Given the description of an element on the screen output the (x, y) to click on. 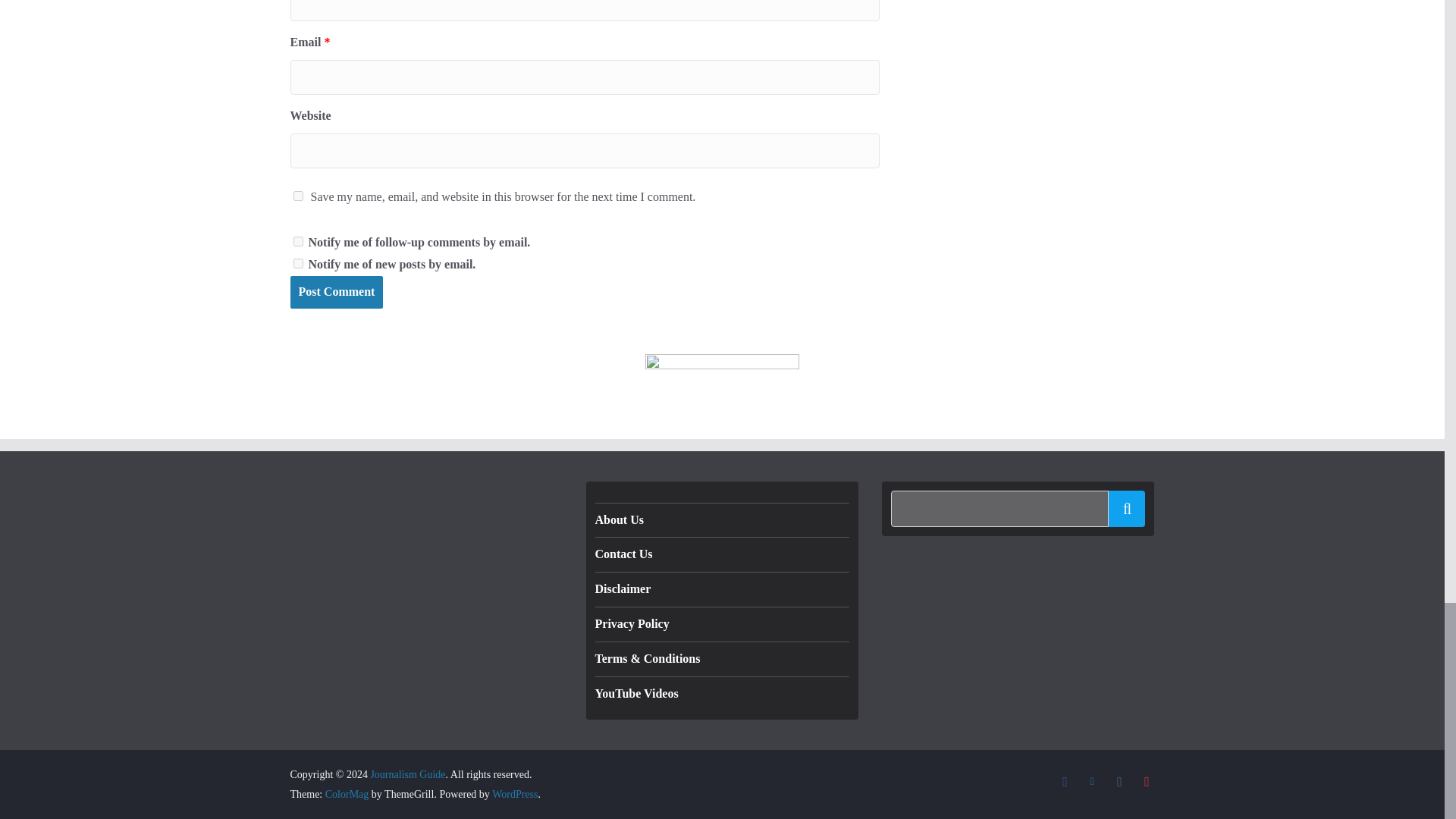
subscribe (297, 241)
Post Comment (335, 292)
yes (297, 195)
subscribe (297, 263)
